Given the description of an element on the screen output the (x, y) to click on. 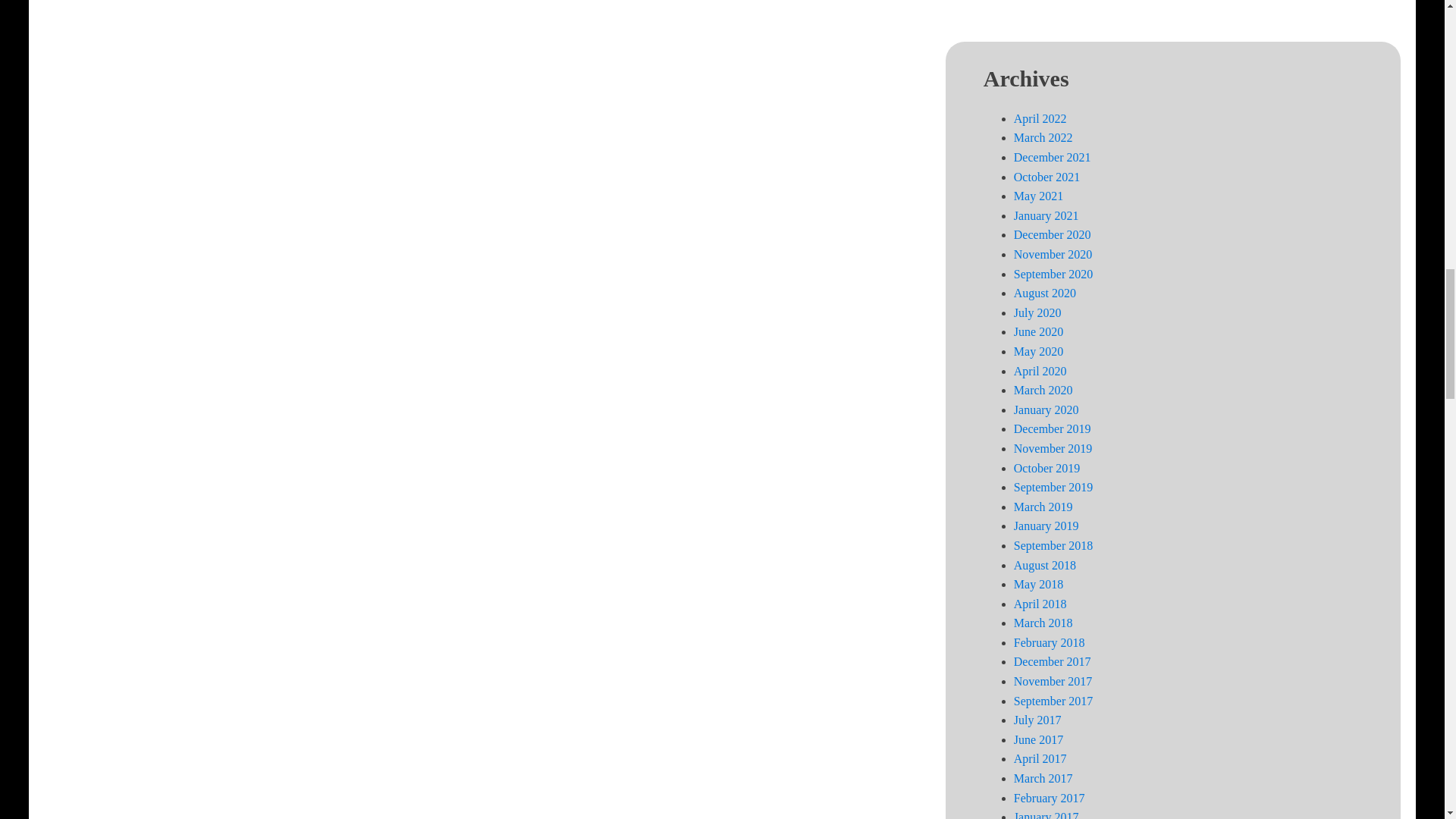
May 2020 (1037, 350)
January 2021 (1045, 215)
June 2020 (1037, 331)
January 2020 (1045, 409)
December 2021 (1051, 156)
August 2020 (1044, 292)
April 2022 (1040, 118)
May 2021 (1037, 195)
October 2021 (1046, 176)
March 2020 (1043, 390)
July 2020 (1037, 312)
September 2020 (1053, 273)
April 2020 (1040, 370)
November 2020 (1053, 254)
March 2022 (1043, 137)
